Given the description of an element on the screen output the (x, y) to click on. 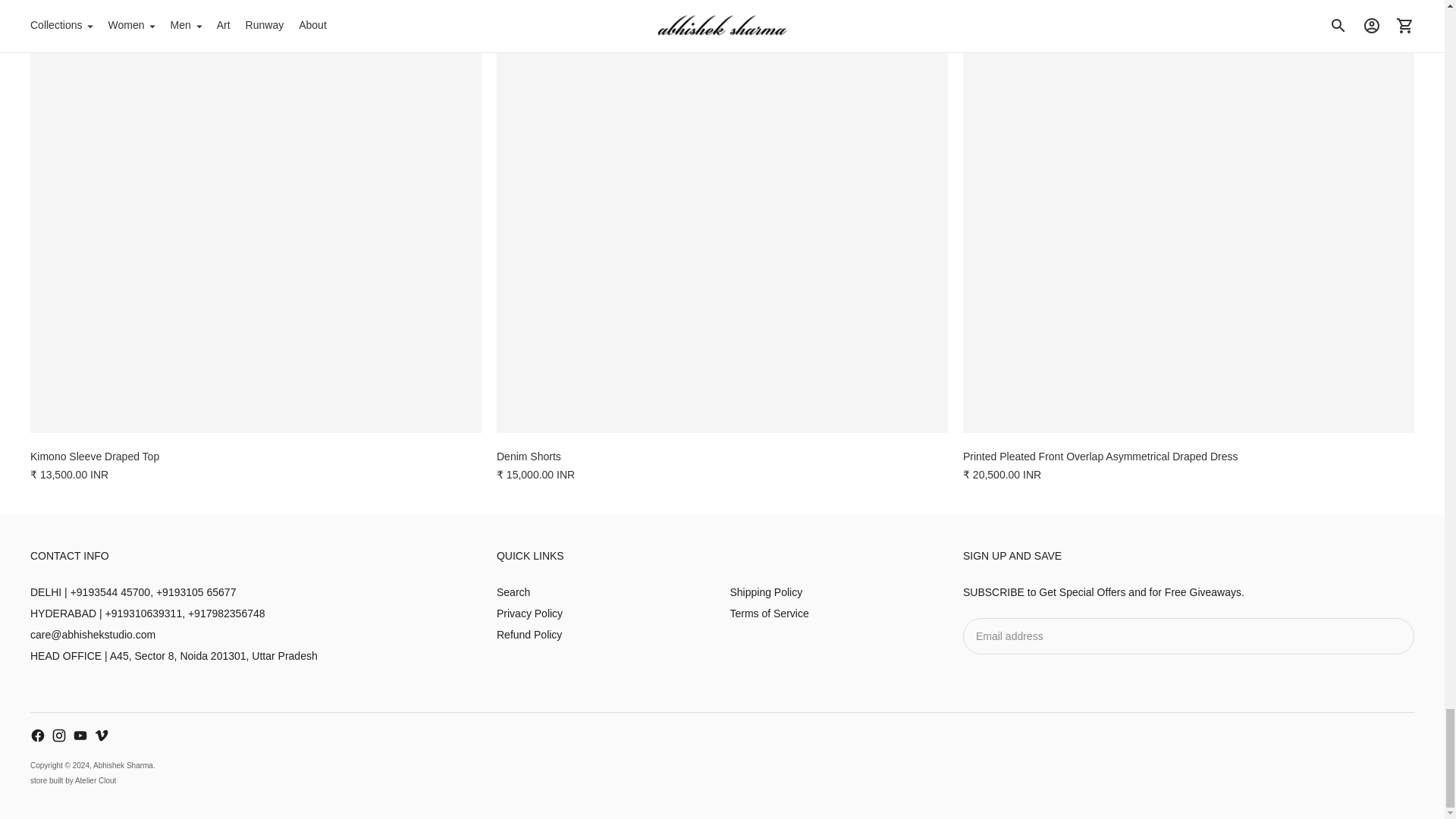
Abhishek Sharma on Facebook (37, 735)
